Given the description of an element on the screen output the (x, y) to click on. 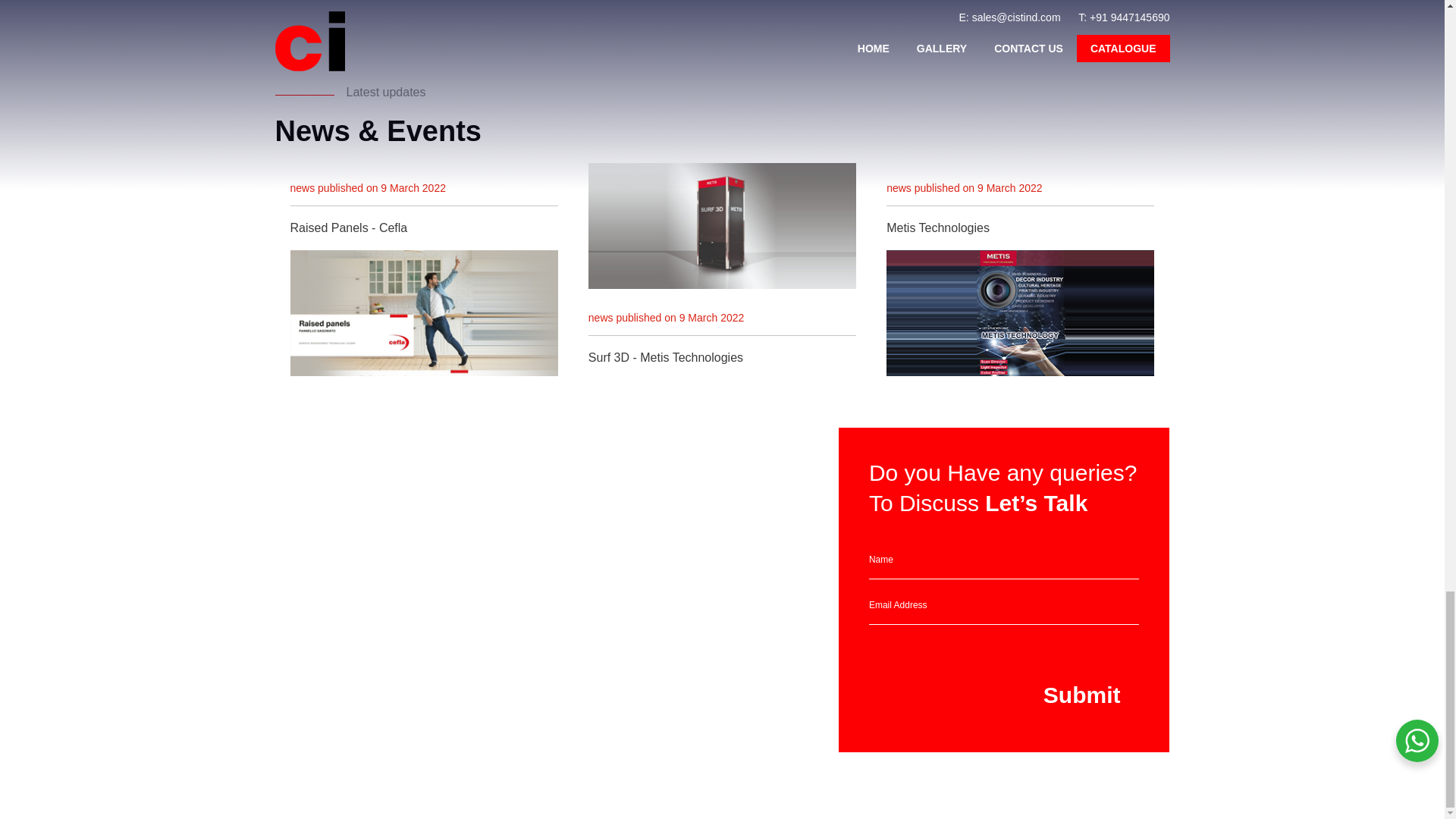
Meridian Solutions Inc. (560, 752)
Submit (1081, 694)
Home (685, 541)
0091 9447145690 (516, 651)
Contact Us (697, 582)
00 971 50 481 0535 (322, 651)
Gallery (687, 562)
Submit (1081, 694)
